Given the description of an element on the screen output the (x, y) to click on. 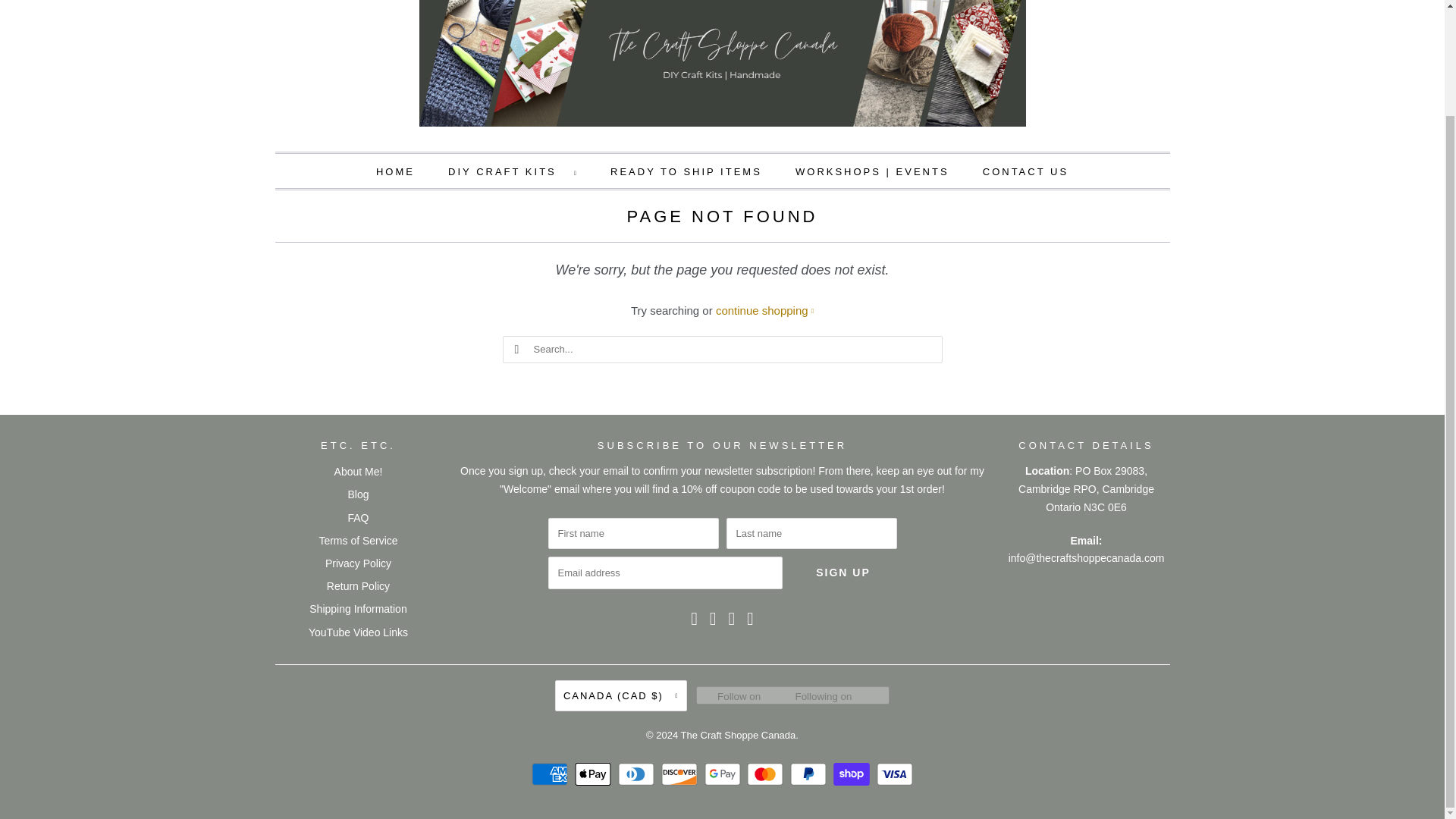
Visa (894, 773)
CONTACT US (1025, 171)
The Craft Shoppe Canada (722, 68)
Apple Pay (594, 773)
HOME (394, 171)
PayPal (809, 773)
Discover (681, 773)
Sign Up (843, 572)
Shop Pay (852, 773)
Diners Club (637, 773)
READY TO SHIP ITEMS (685, 171)
American Express (551, 773)
Google Pay (723, 773)
Mastercard (766, 773)
